Given the description of an element on the screen output the (x, y) to click on. 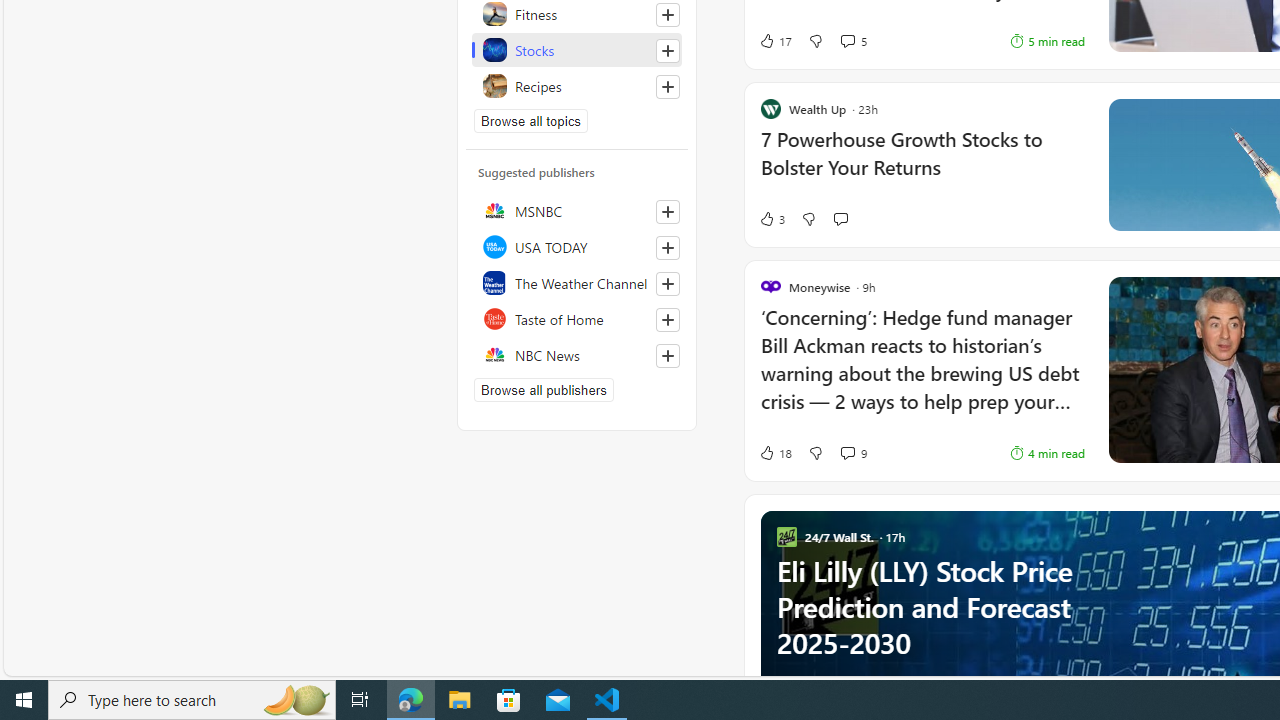
Start the conversation (840, 218)
Recipes (577, 85)
7 Powerhouse Growth Stocks to Bolster Your Returns (922, 164)
View comments 9 Comment (847, 452)
Follow this topic (667, 86)
USA TODAY (577, 246)
MSNBC (577, 210)
18 Like (775, 452)
Follow this topic (667, 86)
Start the conversation (840, 219)
